Given the description of an element on the screen output the (x, y) to click on. 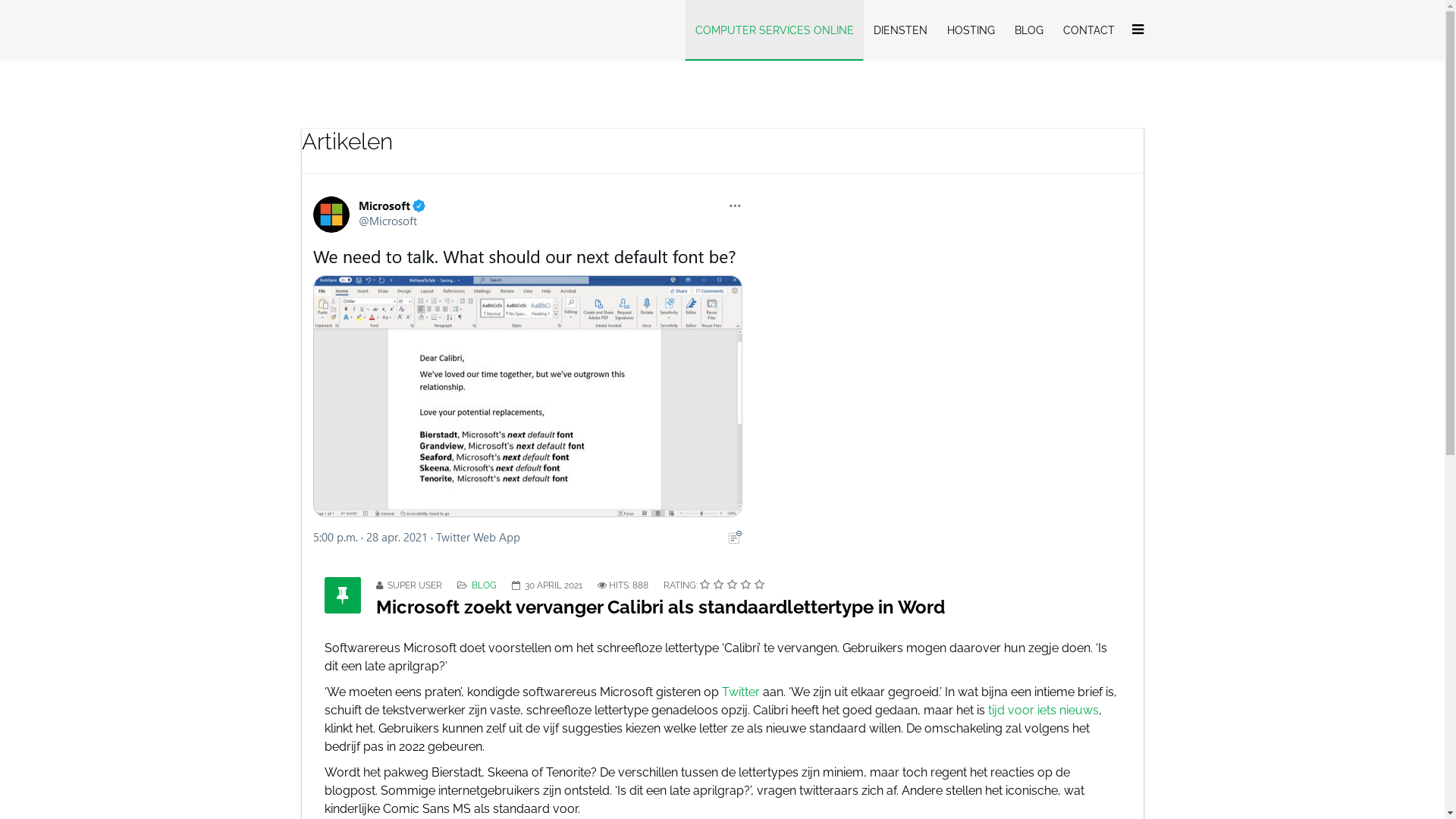
BLOG Element type: text (483, 585)
CONTACT Element type: text (1087, 30)
BLOG Element type: text (1028, 30)
DIENSTEN Element type: text (899, 30)
COMPUTER SERVICES ONLINE Element type: text (774, 30)
HOSTING Element type: text (970, 30)
tijd voor iets nieuws Element type: text (1042, 709)
Twitter Element type: text (740, 691)
